Given the description of an element on the screen output the (x, y) to click on. 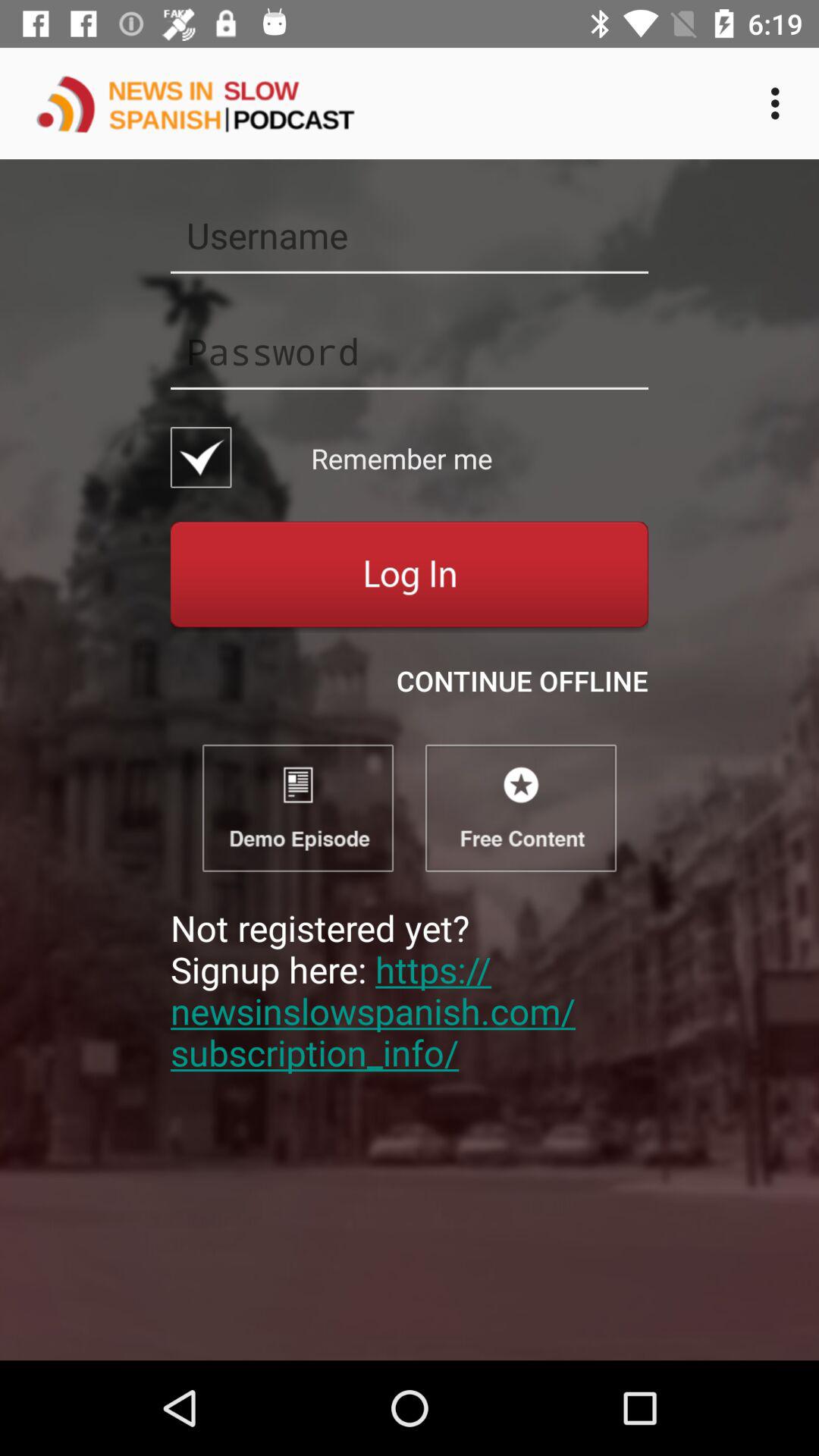
click to login (409, 577)
